Given the description of an element on the screen output the (x, y) to click on. 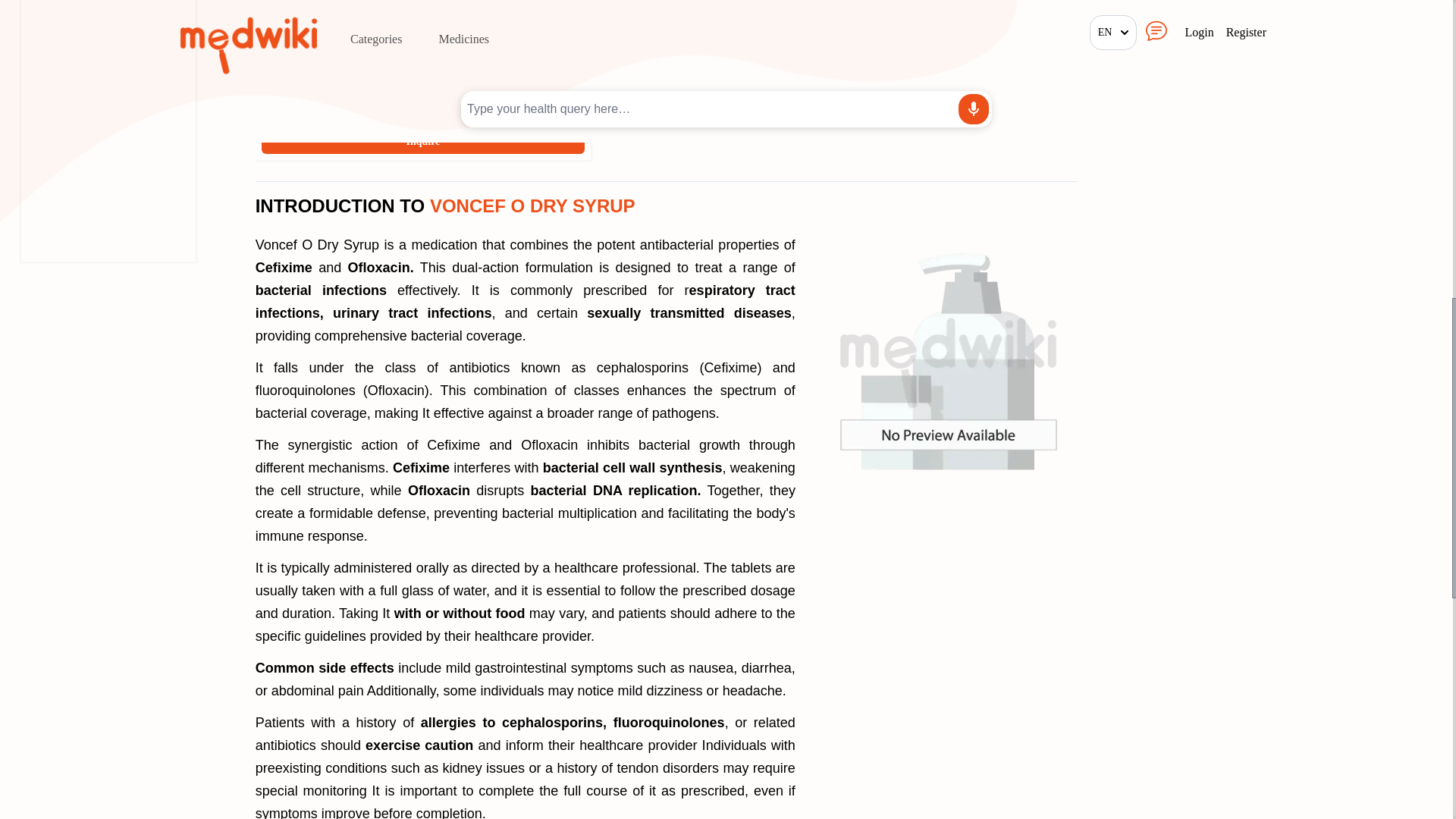
Healthkey Lifescience Pvt. Ltd. (329, 35)
Inquire (423, 141)
